Given the description of an element on the screen output the (x, y) to click on. 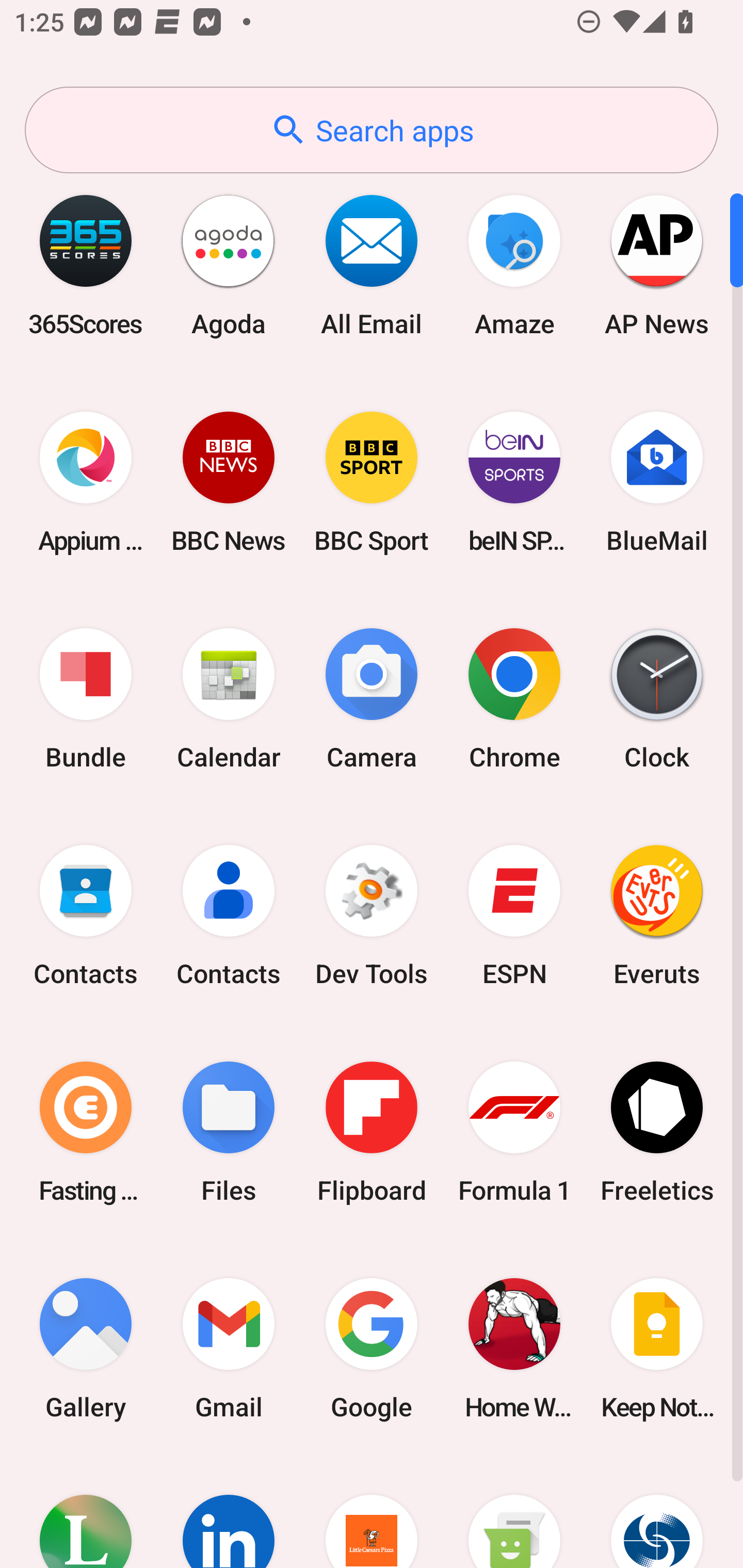
  Search apps (371, 130)
365Scores (85, 264)
Agoda (228, 264)
All Email (371, 264)
Amaze (514, 264)
AP News (656, 264)
Appium Settings (85, 482)
BBC News (228, 482)
BBC Sport (371, 482)
beIN SPORTS (514, 482)
BlueMail (656, 482)
Bundle (85, 699)
Calendar (228, 699)
Camera (371, 699)
Chrome (514, 699)
Clock (656, 699)
Contacts (85, 915)
Contacts (228, 915)
Dev Tools (371, 915)
ESPN (514, 915)
Everuts (656, 915)
Fasting Coach (85, 1131)
Files (228, 1131)
Flipboard (371, 1131)
Formula 1 (514, 1131)
Freeletics (656, 1131)
Gallery (85, 1348)
Gmail (228, 1348)
Google (371, 1348)
Home Workout (514, 1348)
Keep Notes (656, 1348)
